Given the description of an element on the screen output the (x, y) to click on. 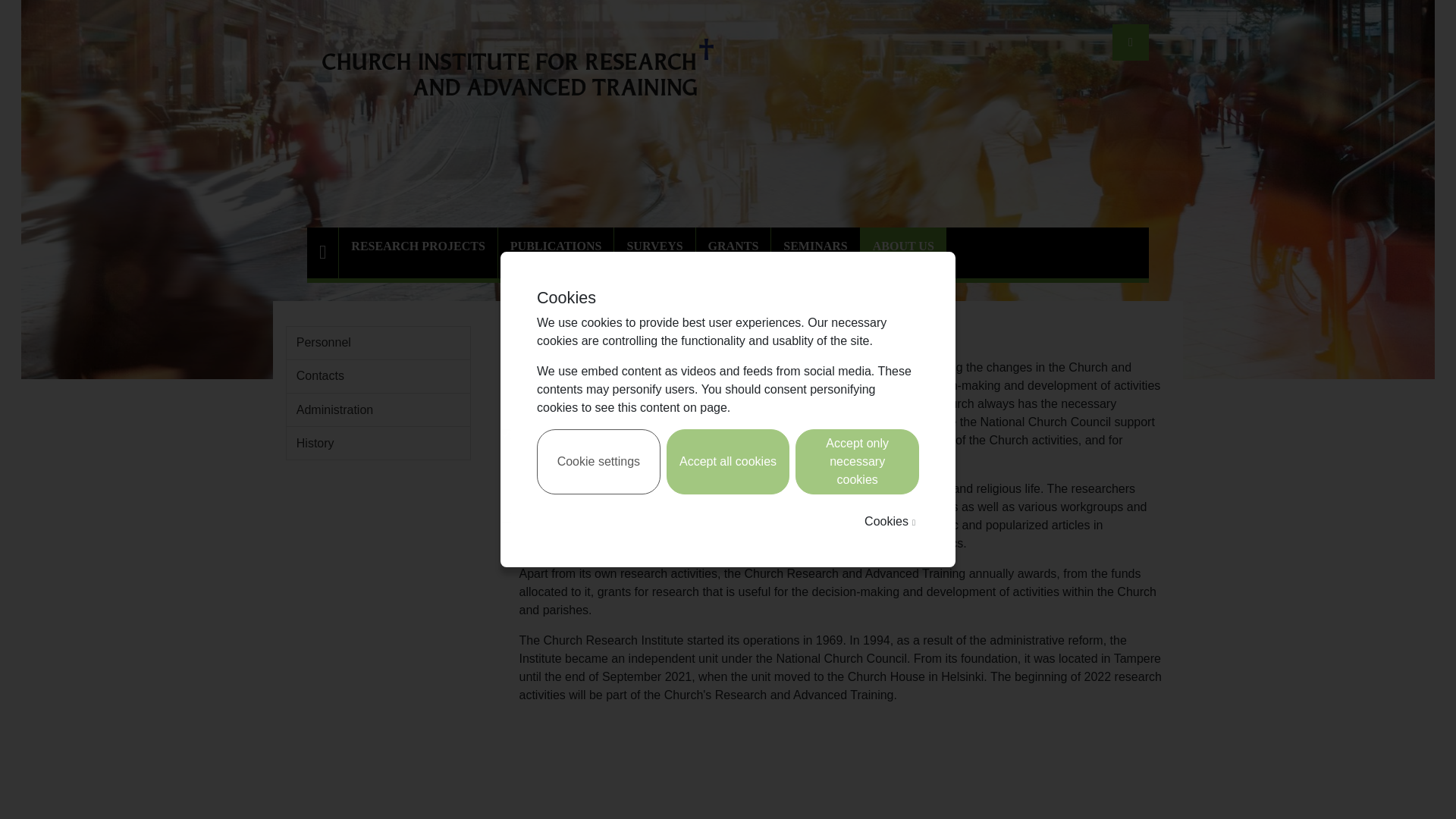
on (505, 434)
on (505, 517)
